Given the description of an element on the screen output the (x, y) to click on. 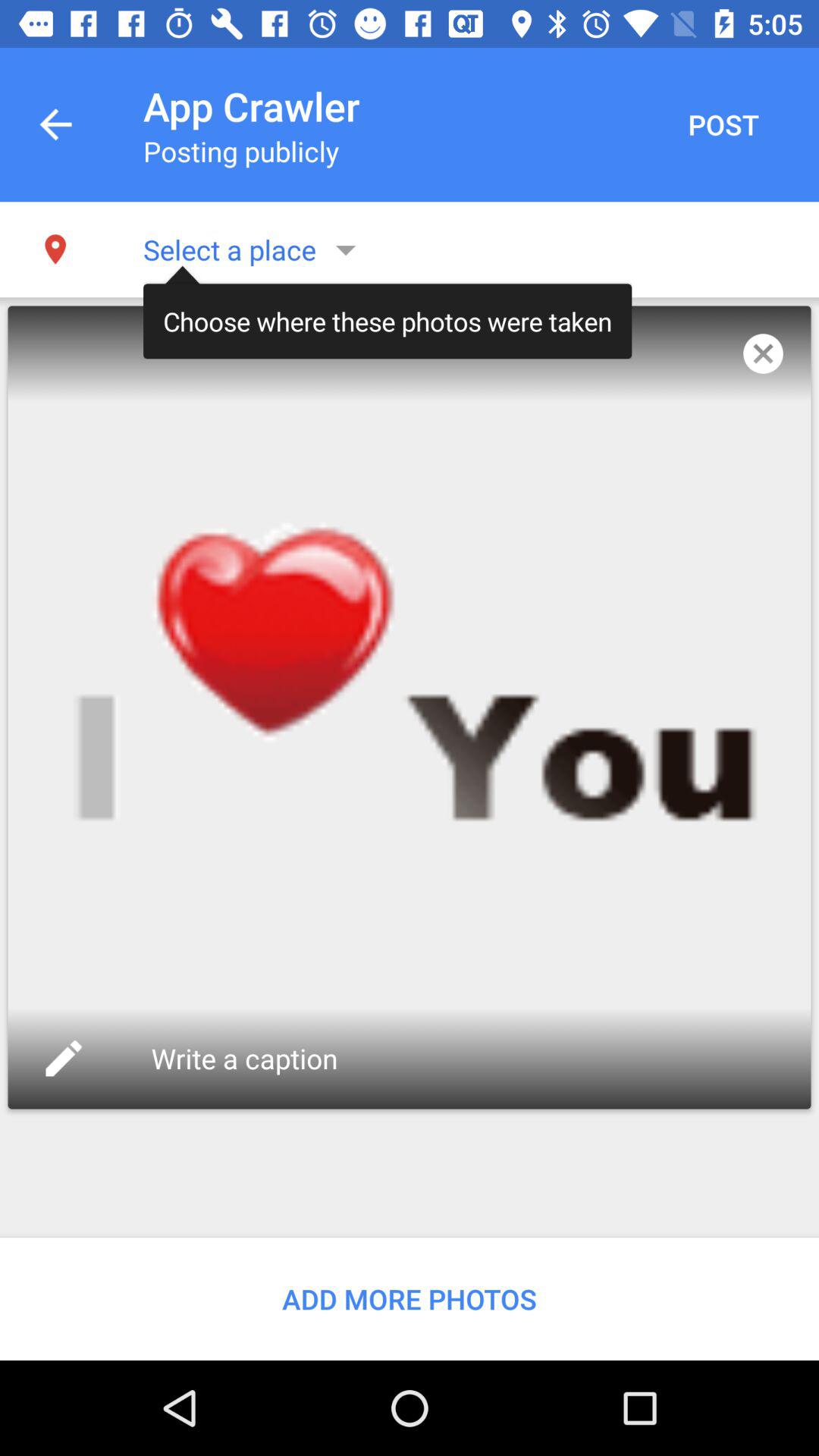
select the item to the right of the choose where these item (763, 353)
